Given the description of an element on the screen output the (x, y) to click on. 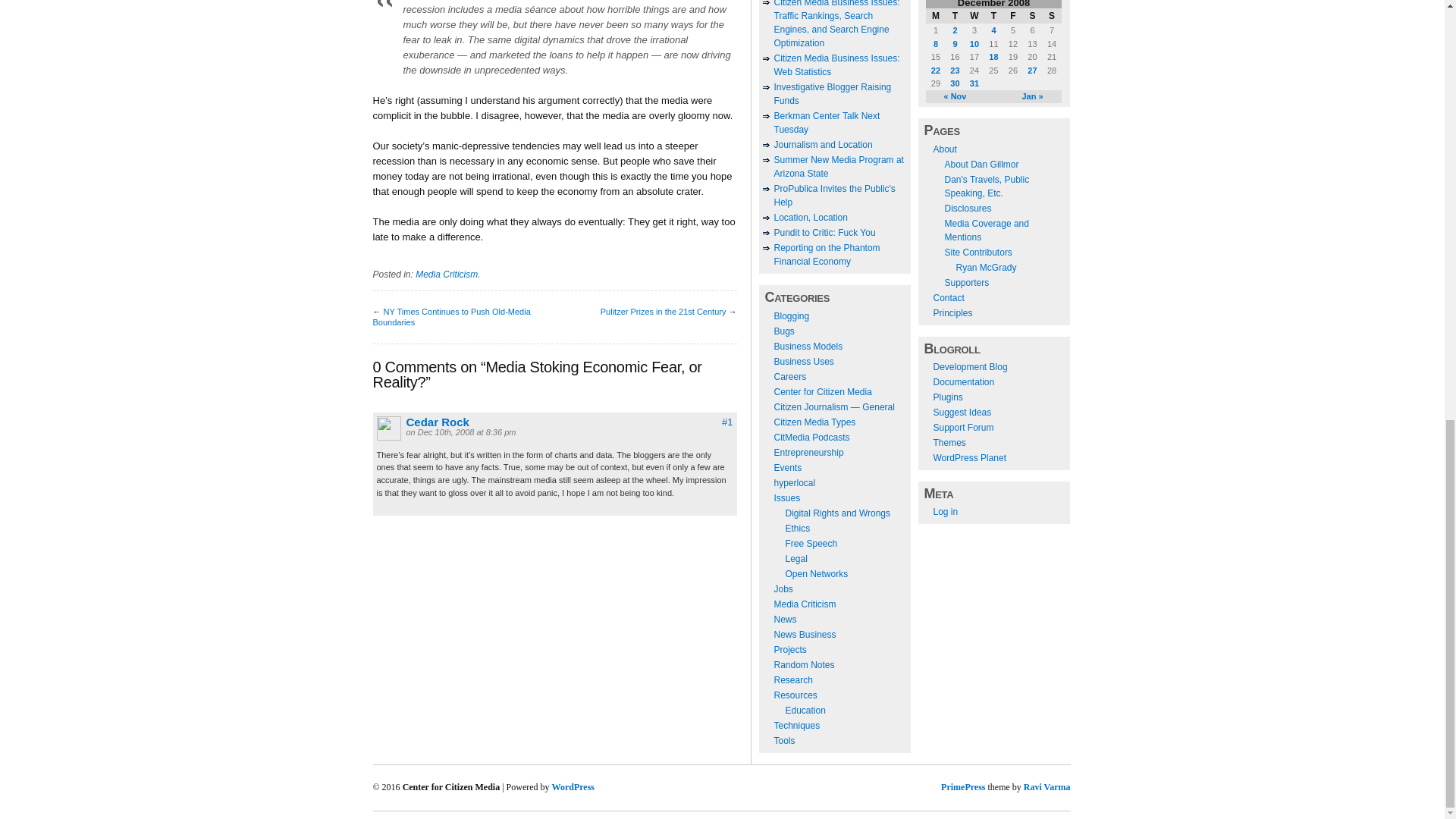
Investigative Blogger Raising Funds (832, 93)
Ethics (798, 528)
Monday (935, 15)
Business Models (808, 346)
Center for Citizen Media (821, 391)
NY Times Continues to Push Old-Media Boundaries (451, 316)
Citizen Media Types (814, 421)
News about citizen media from around the Web (784, 619)
Citizen Media Business Issues: Web Statistics (836, 64)
CitMedia Podcasts (810, 437)
Thursday (994, 15)
Friday (1013, 15)
Reporting on the Phantom Financial Economy (826, 254)
Permalink to this comment (727, 421)
